Given the description of an element on the screen output the (x, y) to click on. 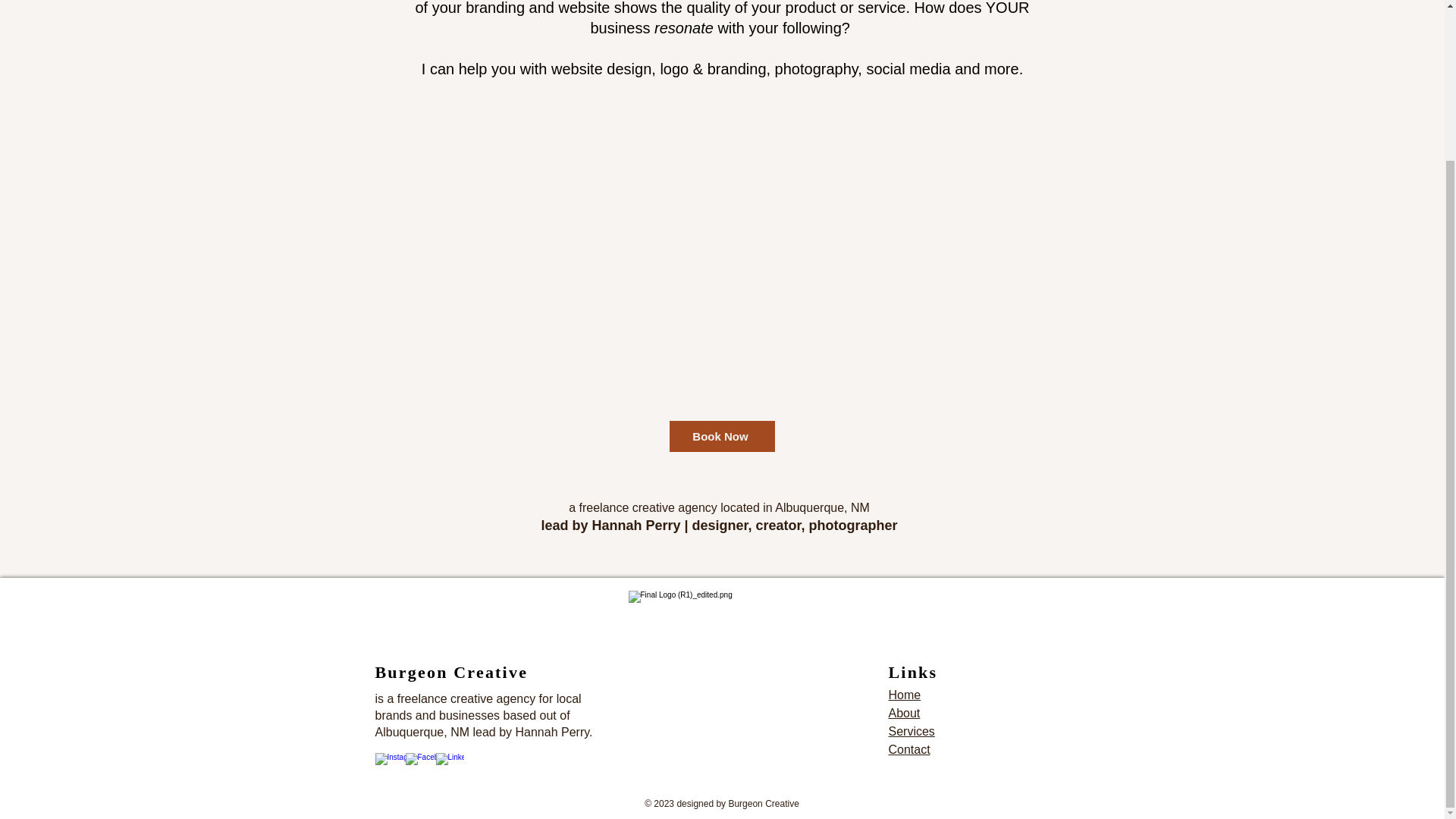
Contact (909, 748)
Links (912, 671)
About (904, 712)
Burgeon Creative (450, 671)
Book Now (721, 436)
Home (904, 694)
Services (911, 730)
